Given the description of an element on the screen output the (x, y) to click on. 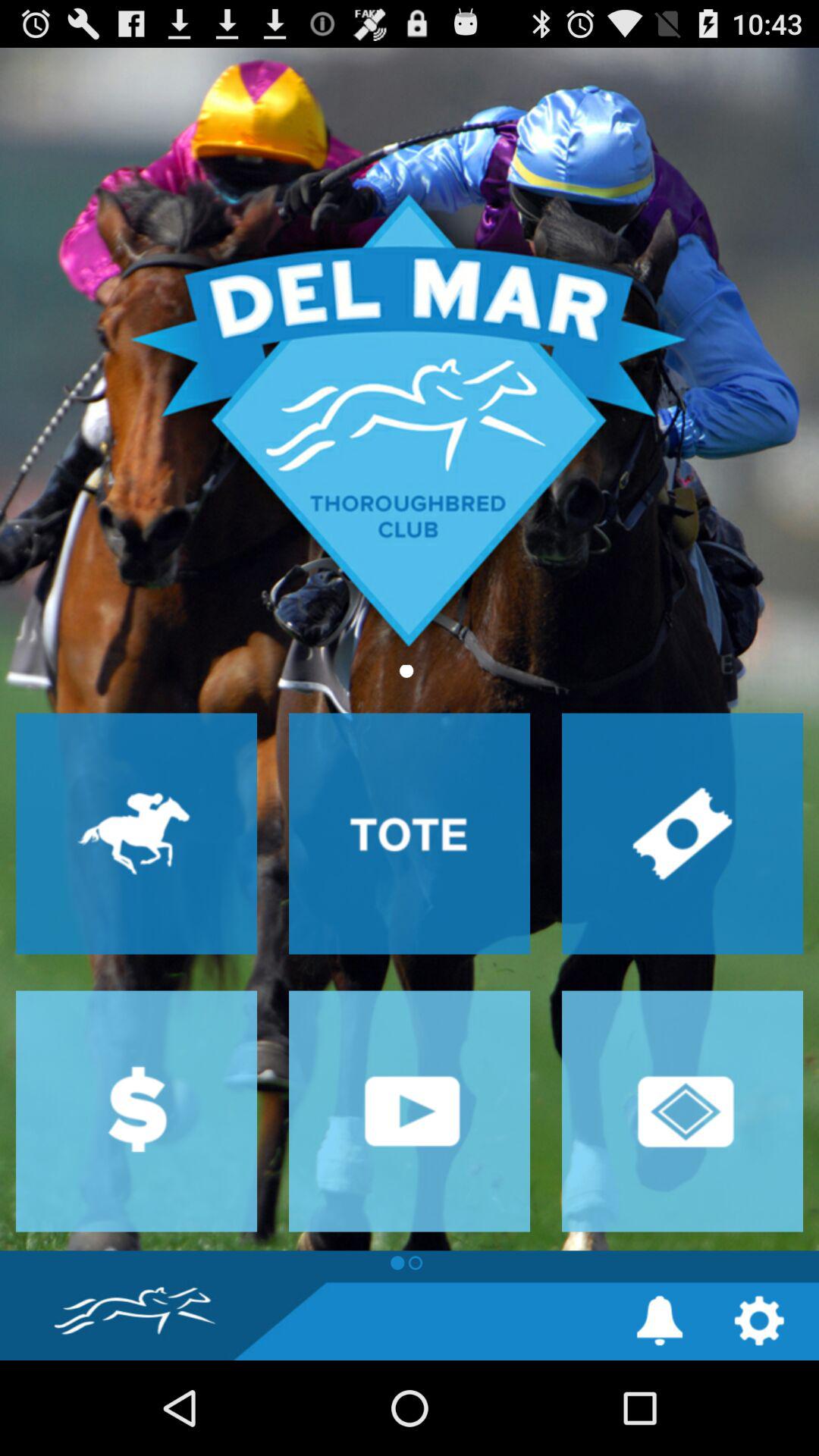
opens racing menu (136, 833)
